Given the description of an element on the screen output the (x, y) to click on. 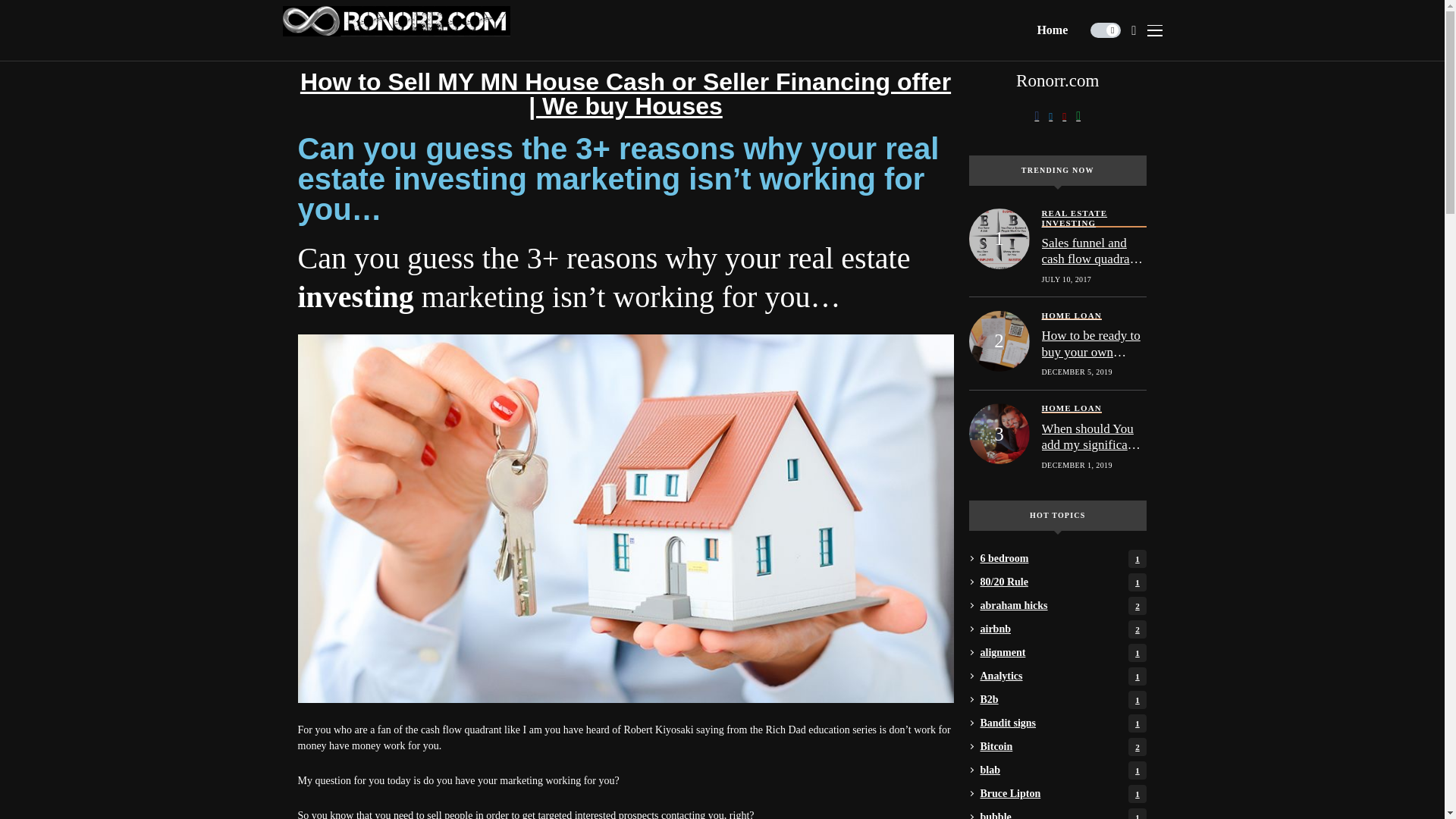
REAL ESTATE INVESTING (1062, 652)
How to be ready to buy your own Minnesota Home this week (1062, 700)
HOME LOAN (1094, 217)
